Given the description of an element on the screen output the (x, y) to click on. 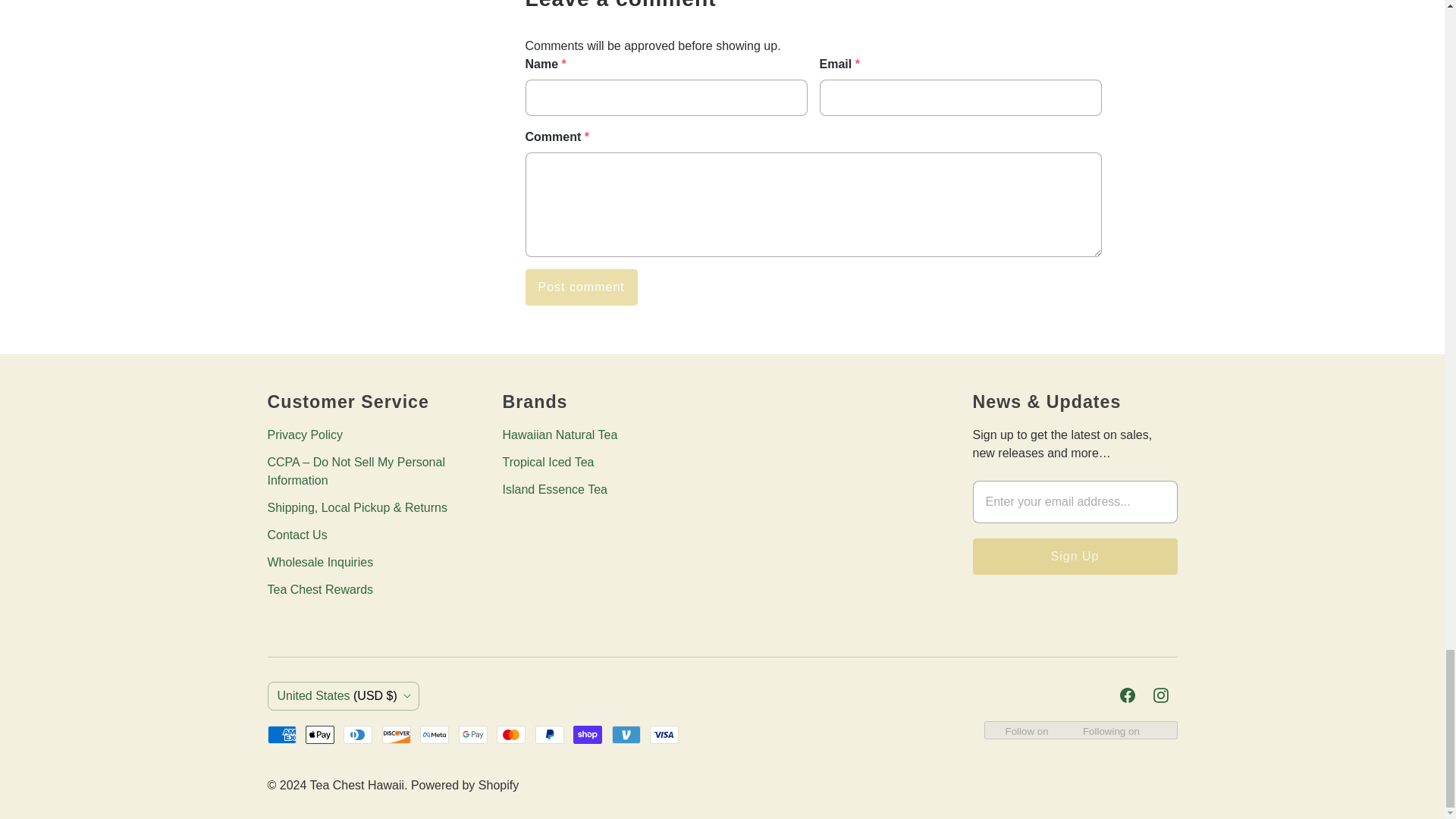
Google Pay (472, 734)
PayPal (549, 734)
Post comment (580, 287)
Discover (395, 734)
Sign Up (1074, 556)
Visa (663, 734)
Shop Pay (587, 734)
Apple Pay (319, 734)
American Express (280, 734)
Meta Pay (434, 734)
